Given the description of an element on the screen output the (x, y) to click on. 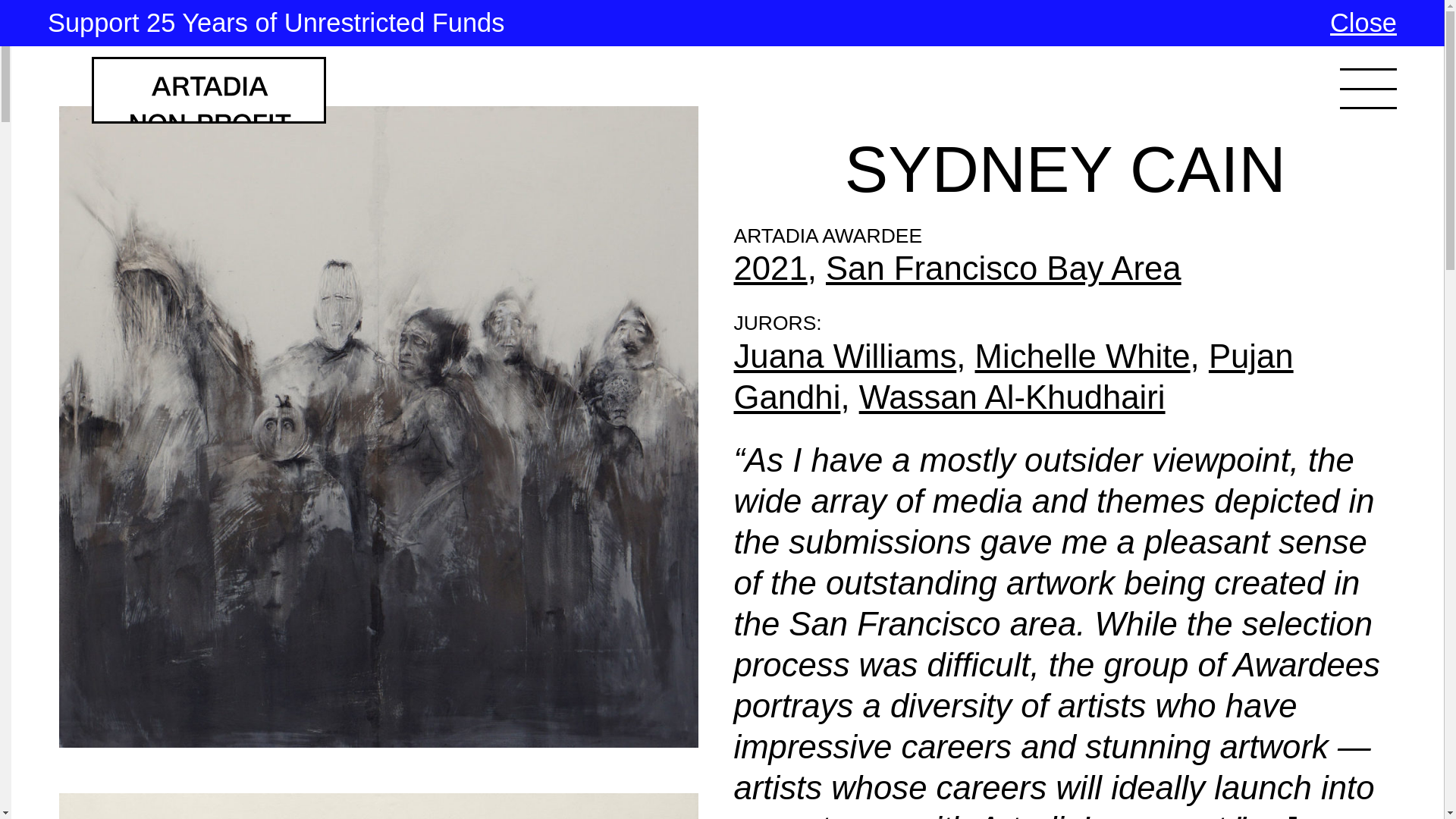
Support 25 Years of Unrestricted Funds (275, 22)
San Francisco Bay Area (1002, 267)
Michelle White (1083, 355)
Juana Williams (844, 355)
2021 (770, 267)
Wassan Al-Khudhairi (1012, 395)
Pujan Gandhi (1013, 376)
